Given the description of an element on the screen output the (x, y) to click on. 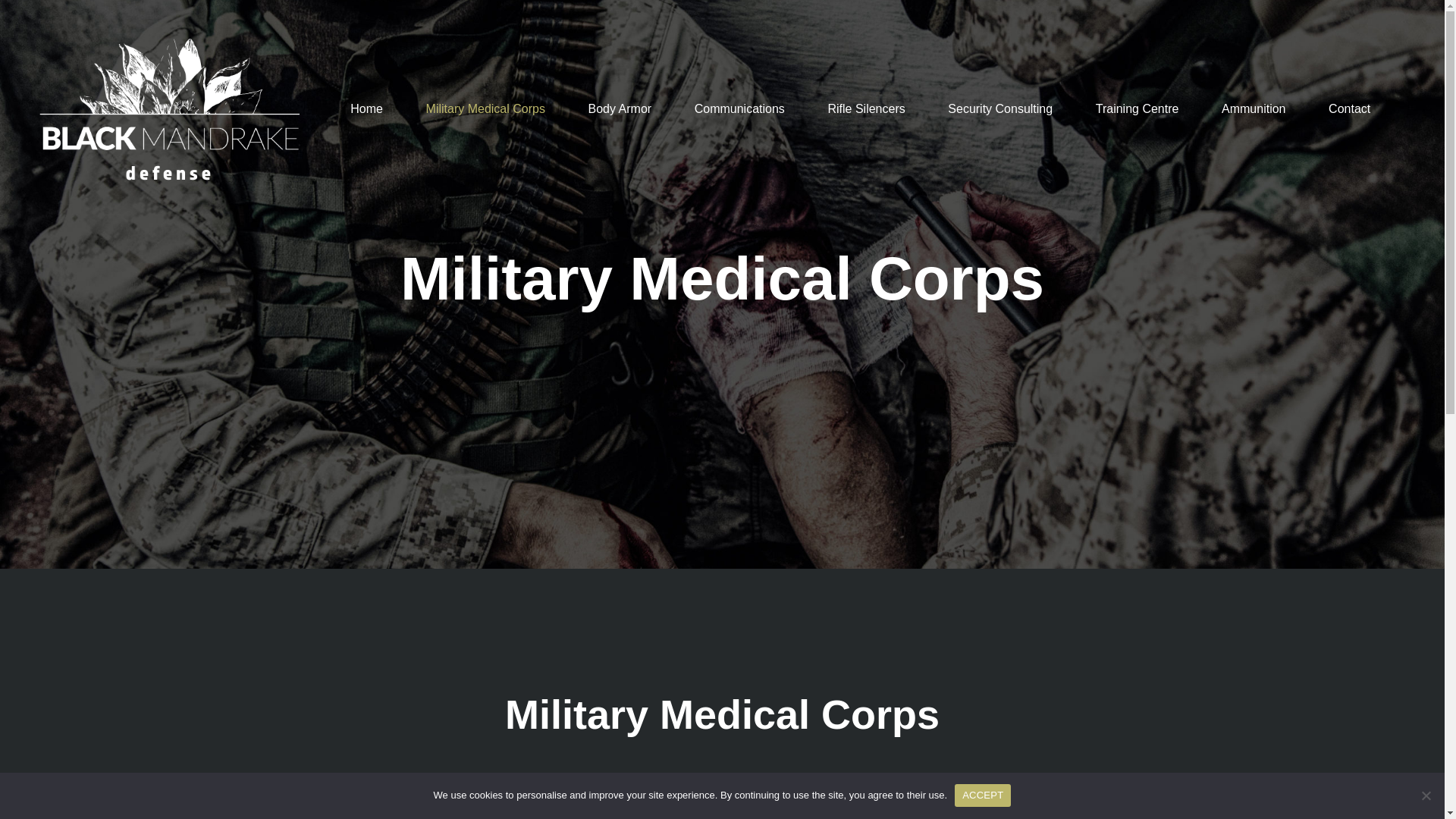
Security Consulting (999, 109)
ACCEPT (982, 794)
Rifle Silencers (865, 109)
Bandaging the damdged hand of a Ukrainian soldier, close-up. (500, 812)
Training Centre (1137, 109)
Military Medical Corps (485, 109)
Body Armor (620, 109)
Ammunition (1253, 109)
Contact (1348, 109)
Communications (739, 109)
Home (366, 109)
